Given the description of an element on the screen output the (x, y) to click on. 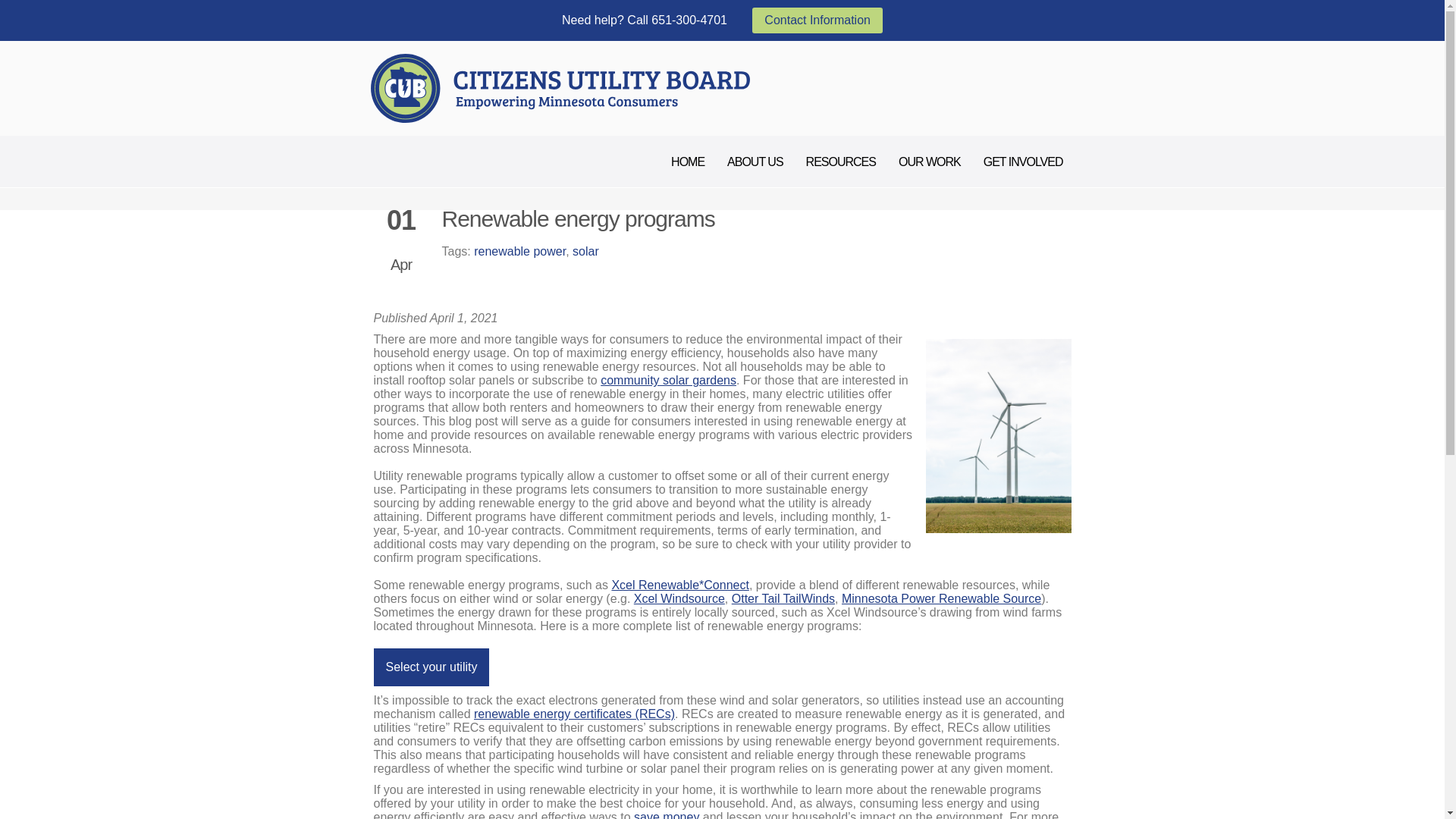
RESOURCES (840, 161)
651-300-4701 (688, 19)
OUR WORK (929, 161)
renewable power (520, 250)
community solar gardens (667, 379)
Minnesota Power Renewable Source (941, 598)
ABOUT US (755, 161)
HOME (687, 161)
Contact Information (817, 20)
Xcel Windsource (679, 598)
